Given the description of an element on the screen output the (x, y) to click on. 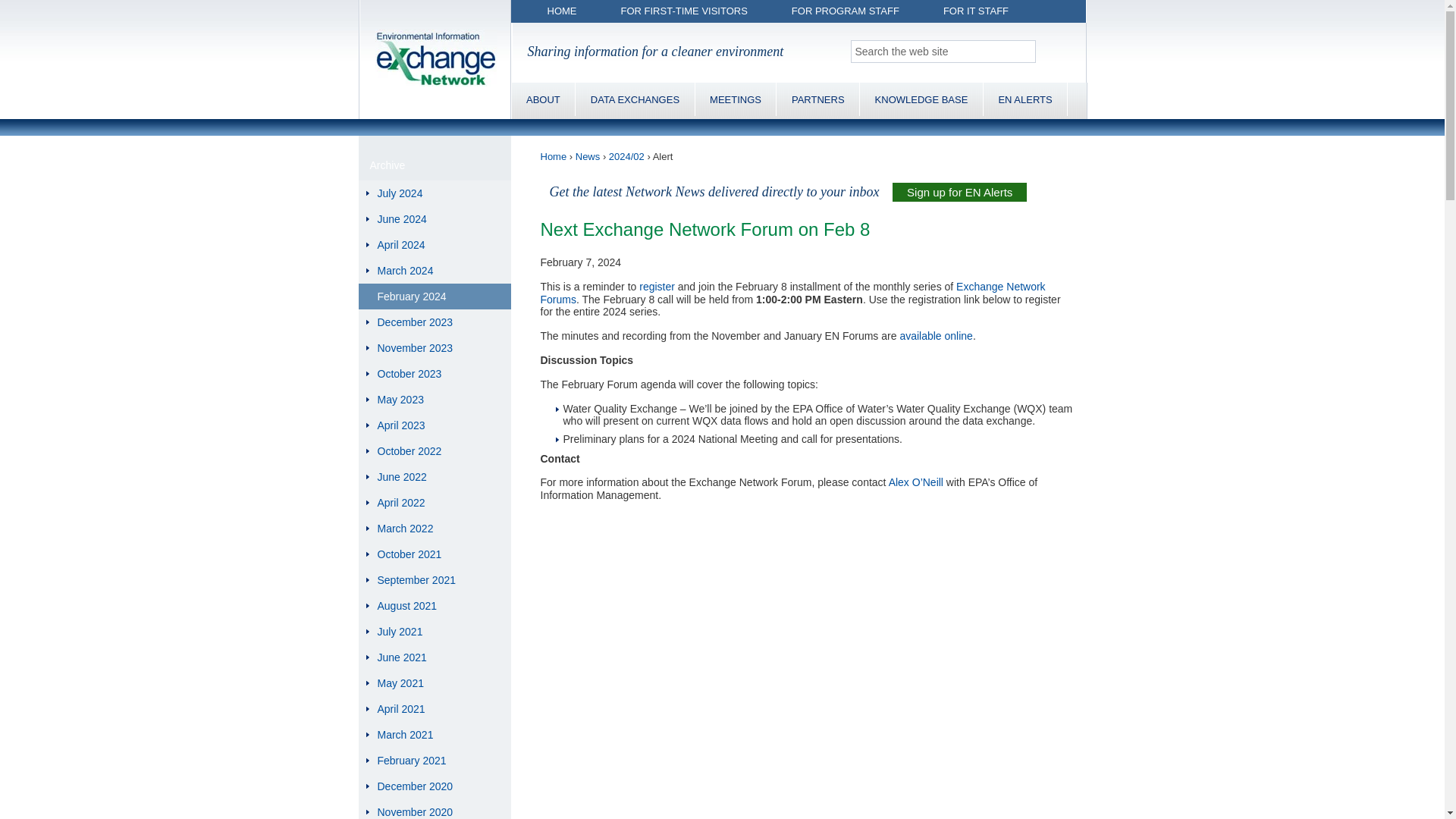
Permalink to Next Exchange Network Forum on Feb 8 (704, 229)
Search (1054, 51)
FOR IT STAFF (976, 11)
HOME (562, 11)
Profiles and Progress (817, 99)
DATA EXCHANGES (634, 99)
Search (1054, 51)
FOR PROGRAM STAFF (845, 11)
Search the web site (942, 51)
Search (1054, 51)
Read all EN Alerts (1025, 99)
FOR FIRST-TIME VISITORS (683, 11)
EN2017 (735, 99)
ABOUT (543, 99)
